Given the description of an element on the screen output the (x, y) to click on. 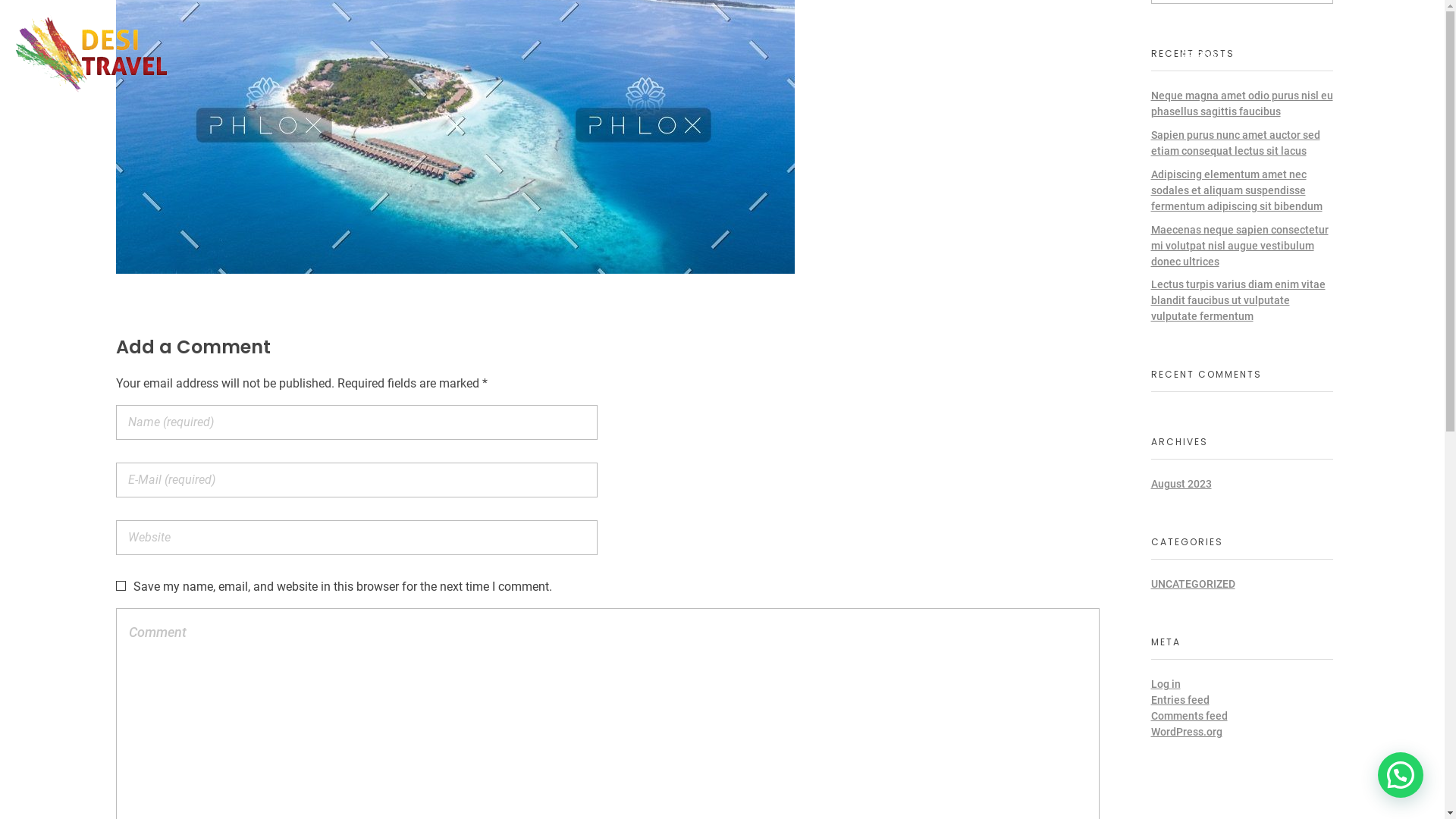
Deshi Travels Element type: hover (91, 53)
UNCATEGORIZED Element type: text (1193, 583)
ABOUT US Element type: text (1109, 55)
CONTACT Element type: text (1381, 55)
Deshi Travels Element type: text (72, 101)
WordPress.org Element type: text (1186, 731)
Log in Element type: text (1165, 683)
August 2023 Element type: text (1181, 483)
Search Element type: text (40, 13)
Entries feed Element type: text (1180, 699)
SPECIAL Element type: text (1201, 55)
AWARDS Element type: text (1289, 55)
Comments feed Element type: text (1189, 715)
